Given the description of an element on the screen output the (x, y) to click on. 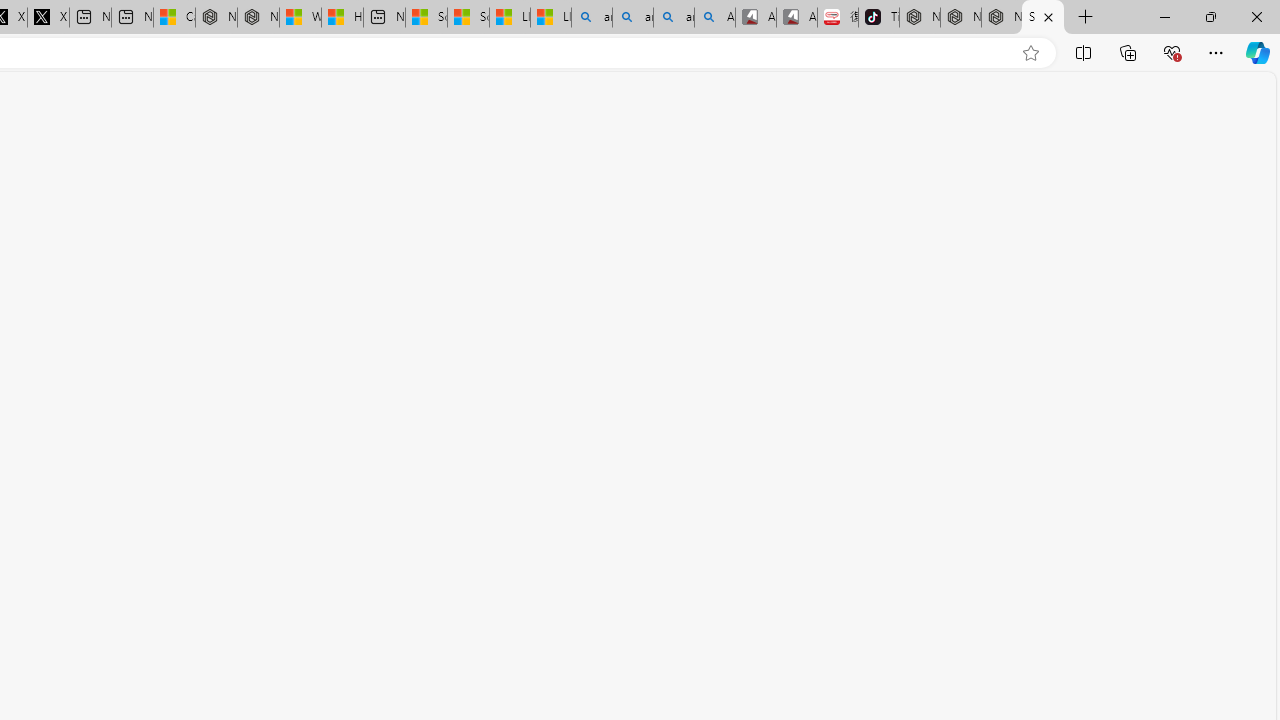
Outlook (1258, 174)
All Cubot phones (796, 17)
Amazon Echo Robot - Search Images (714, 17)
Nordace - Siena Pro 15 Essential Set (1001, 17)
Huge shark washes ashore at New York City beach | Watch (342, 17)
amazon - Search Images (673, 17)
